Given the description of an element on the screen output the (x, y) to click on. 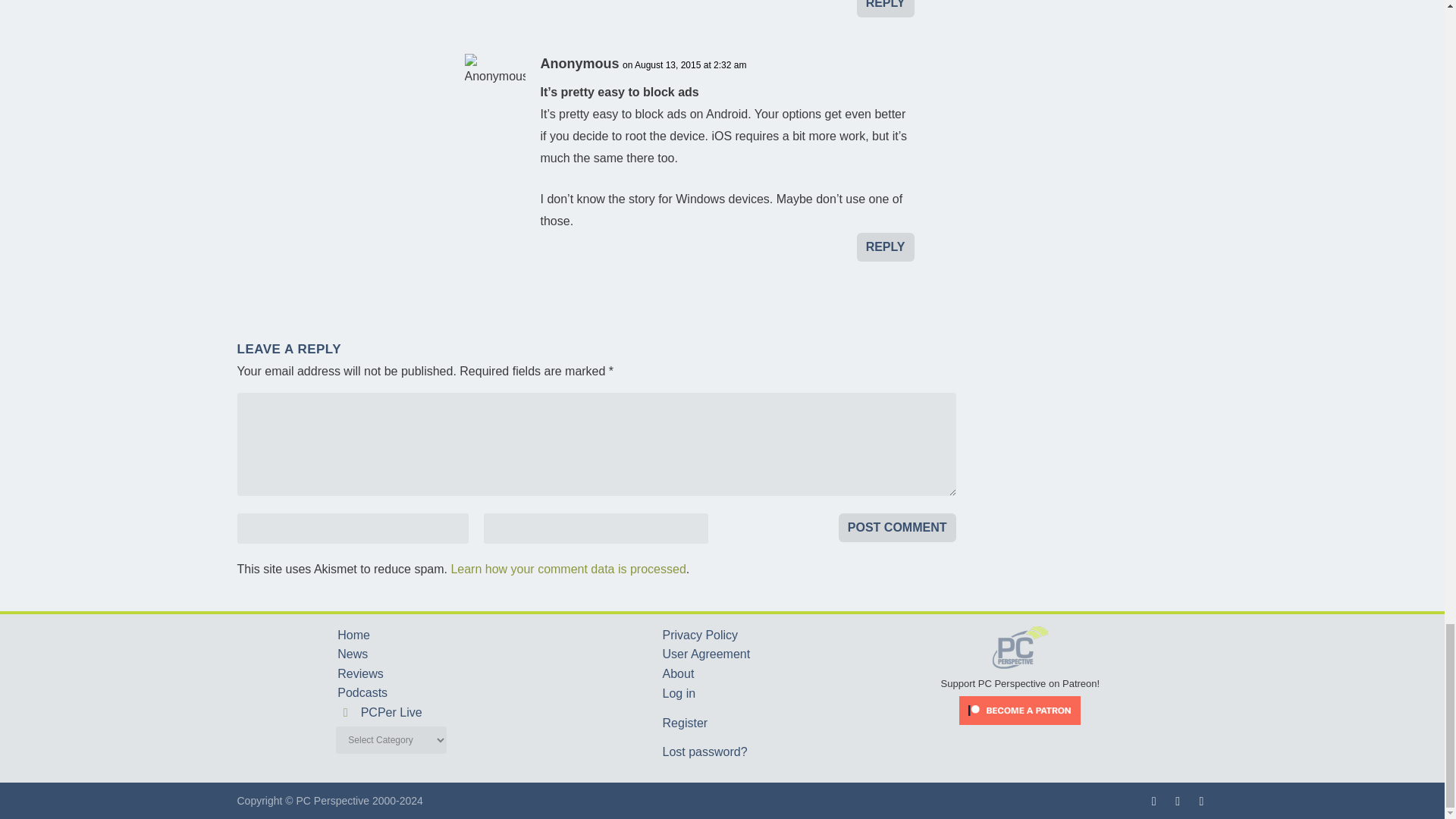
Post Comment (897, 527)
Support PC Perspective on Patreon! (1020, 677)
